Given the description of an element on the screen output the (x, y) to click on. 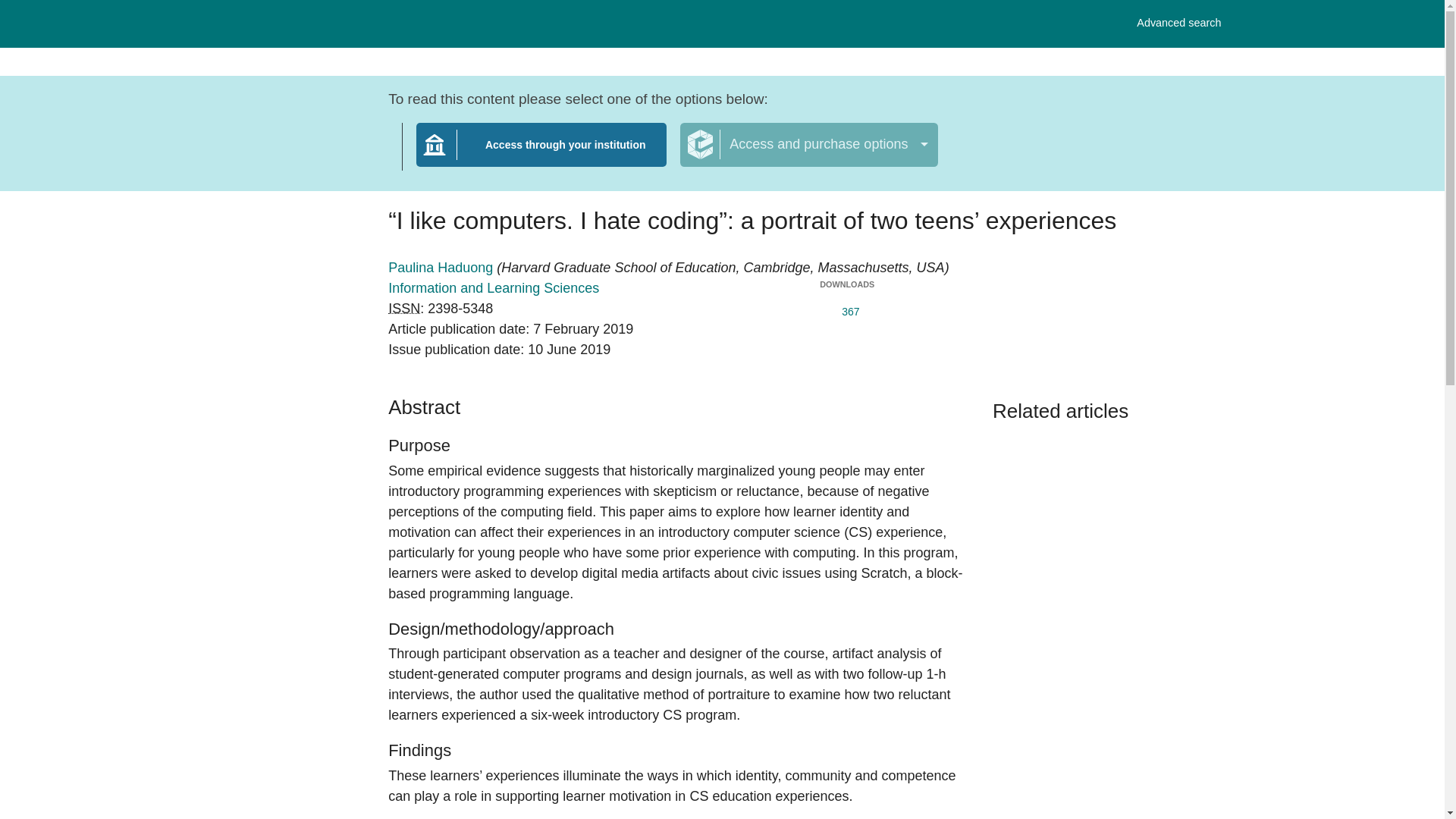
International Standard Serial Number. (1178, 23)
Paulina Haduong (404, 308)
Access through your institution (442, 267)
This item has been downloaded 367 times since 2019. (541, 153)
Information and Learning Sciences (846, 308)
Access and purchase options (493, 287)
